Given the description of an element on the screen output the (x, y) to click on. 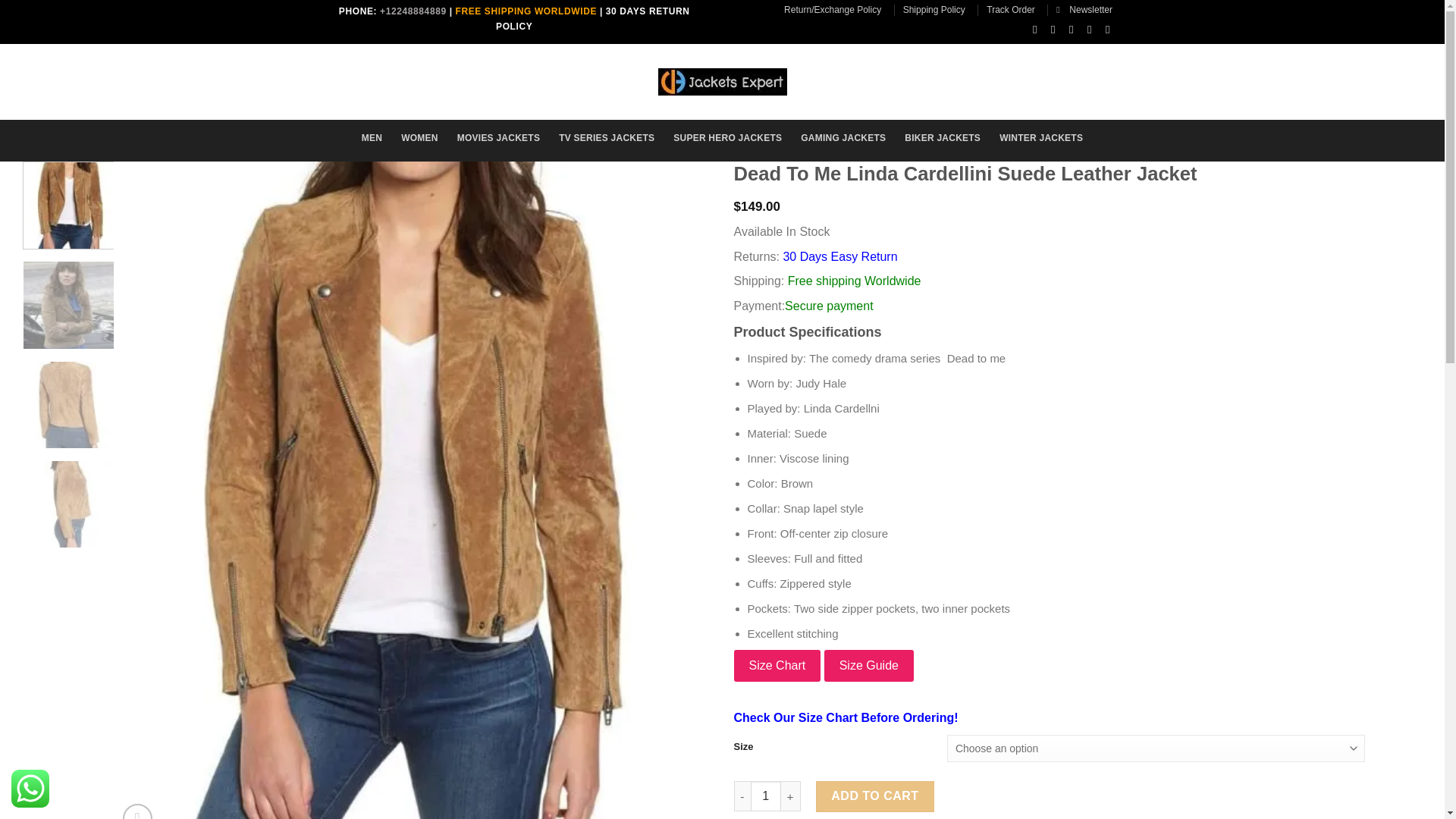
LOGIN (971, 79)
Search (411, 76)
Cart (1072, 78)
BIKER JACKETS (941, 137)
TV SERIES JACKETS (606, 137)
Track Order (1011, 9)
Sign up for Newsletter (1084, 9)
Jackets Expert (721, 81)
WOMEN (419, 137)
WINTER JACKETS (1040, 137)
